Given the description of an element on the screen output the (x, y) to click on. 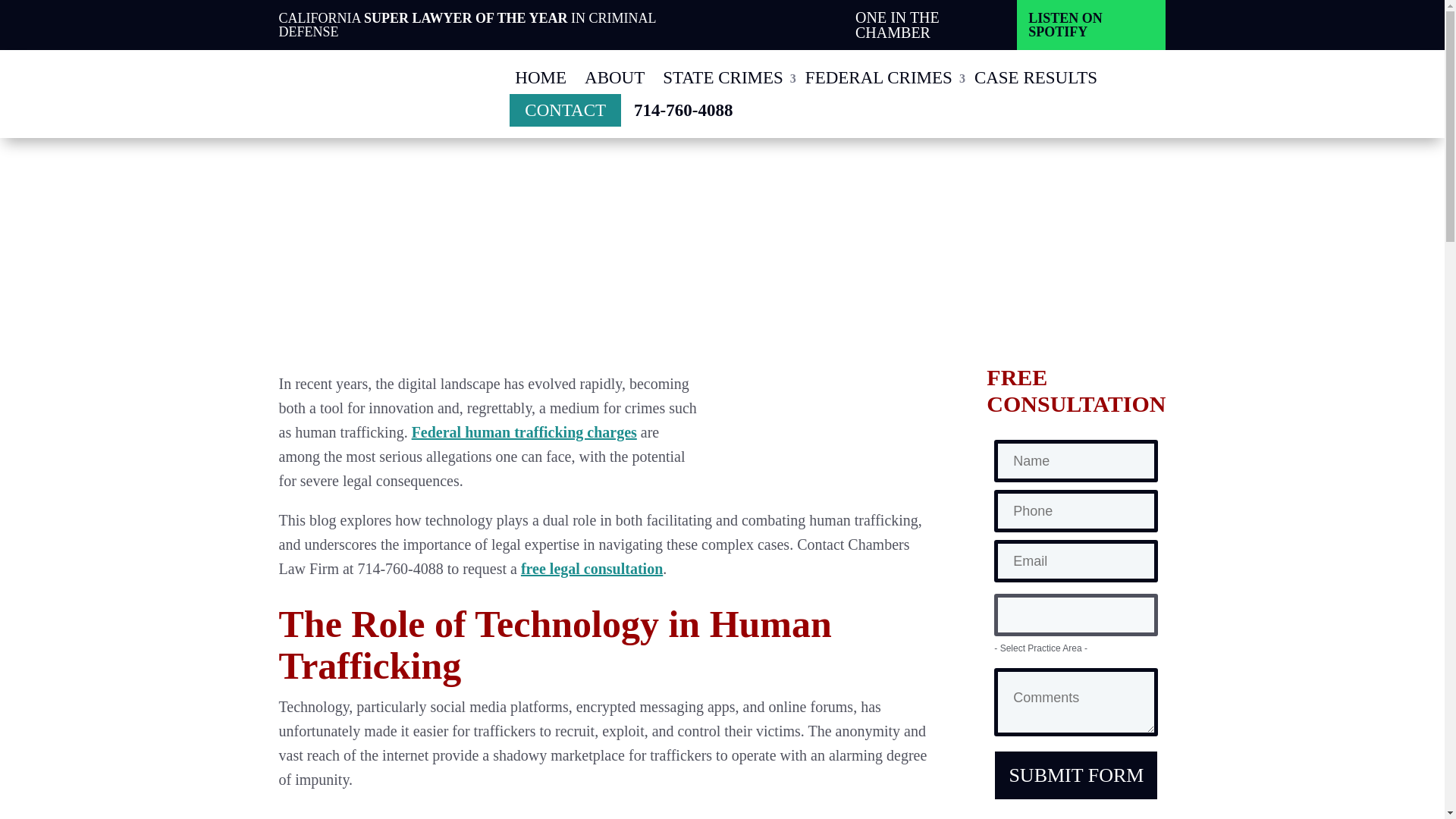
CONTACT (565, 110)
STATE CRIMES (724, 77)
CASE RESULTS (1035, 77)
714-760-4088 (682, 110)
LISTEN ON SPOTIFY (1091, 24)
714-760-4088 (682, 110)
ABOUT (614, 77)
Contact (565, 110)
FEDERAL CRIMES (880, 77)
HOME (540, 77)
Listen on Spotify (1091, 24)
Home (540, 77)
